Given the description of an element on the screen output the (x, y) to click on. 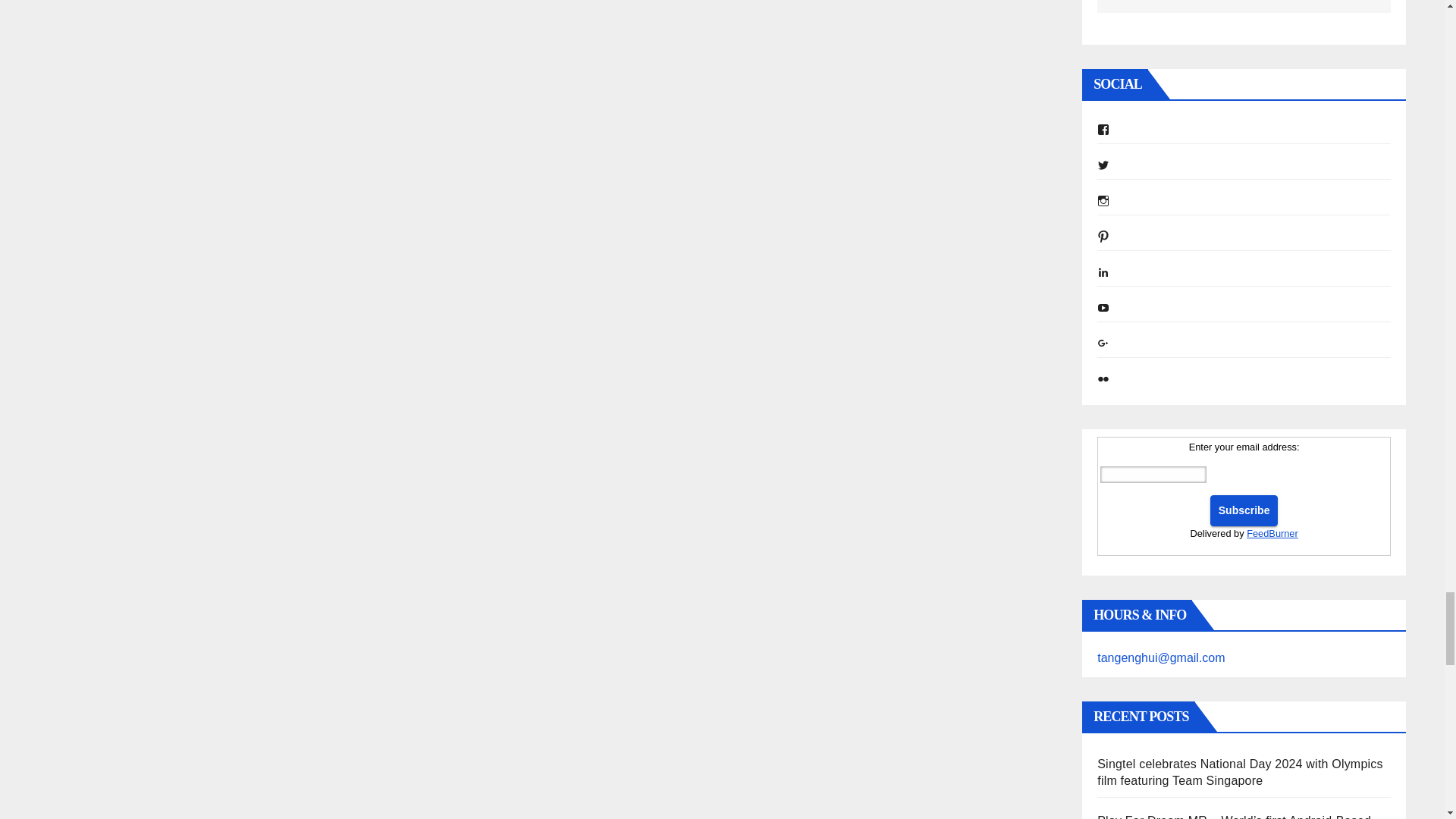
Subscribe (1243, 510)
